Given the description of an element on the screen output the (x, y) to click on. 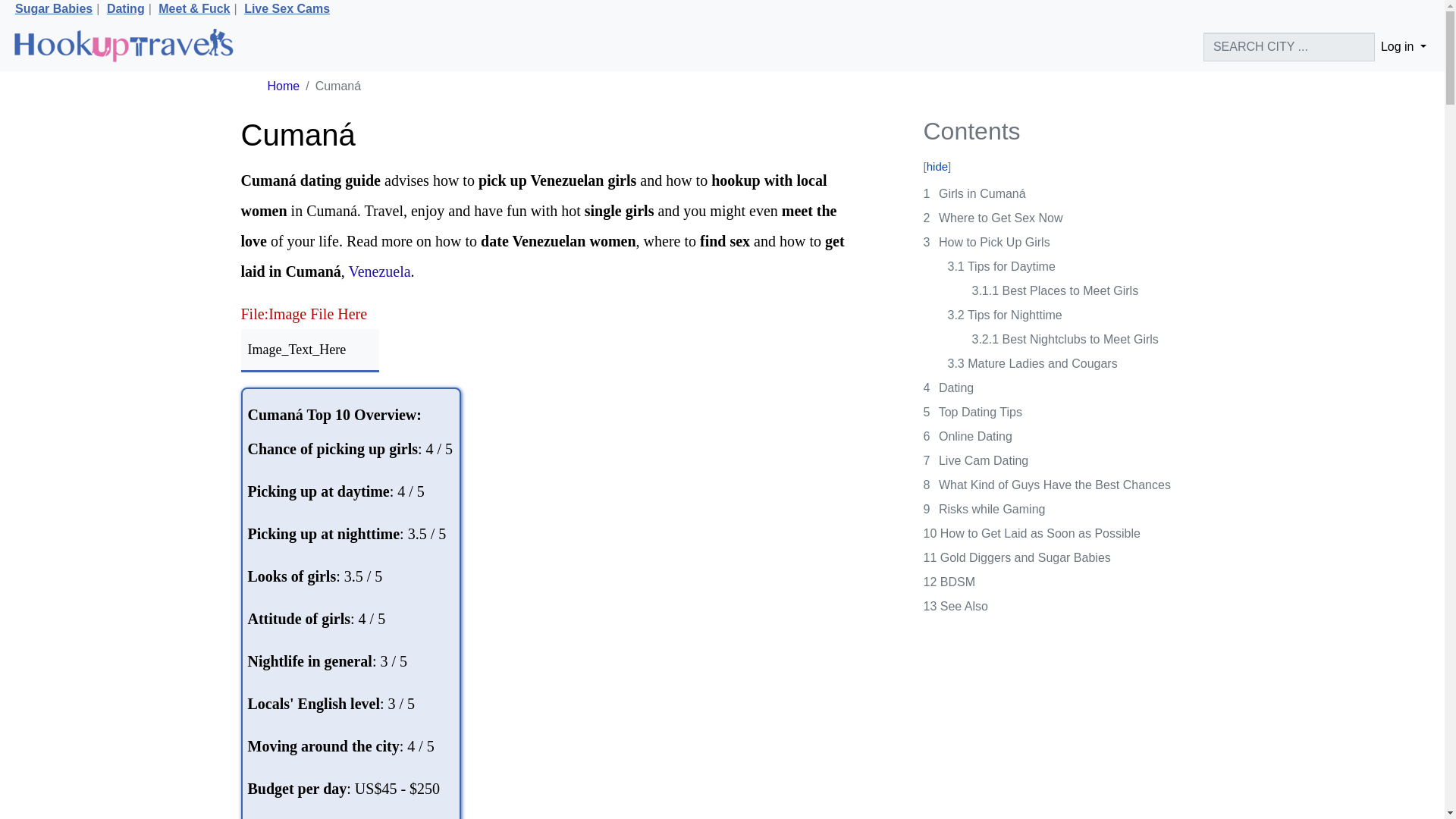
Home (282, 85)
Live Sex Cams (287, 8)
Log in (1403, 46)
Hookup Travels (122, 46)
Venezuela (378, 271)
Dating (125, 8)
File:Image File Here (304, 313)
Venezuela (378, 271)
Sugar Babies (53, 8)
File:Image File Here (304, 313)
